Given the description of an element on the screen output the (x, y) to click on. 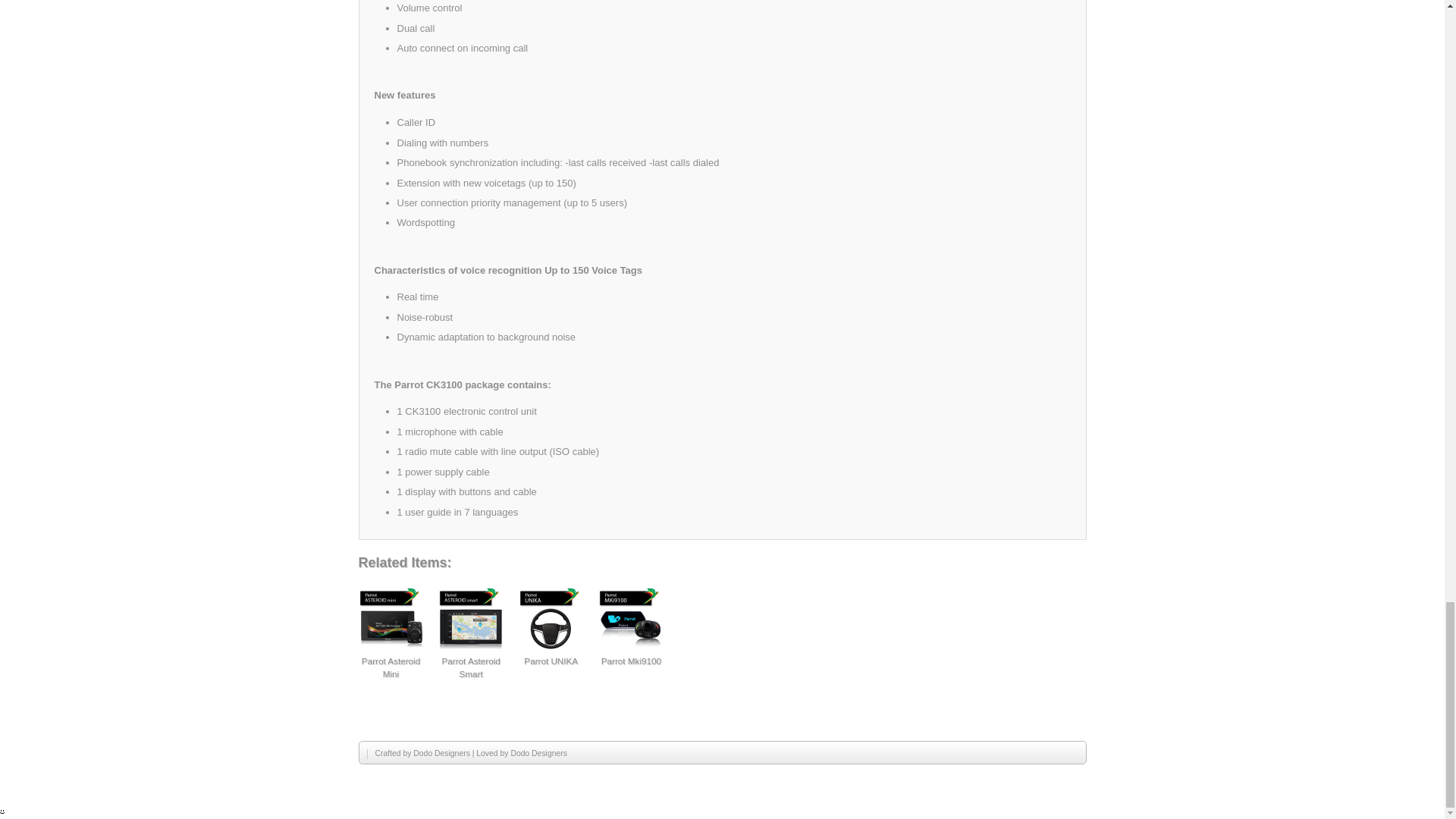
Parrot Asteroid Smart (470, 667)
Parrot UNIKA (551, 660)
Dodo Designers (539, 753)
Parrot UNIKA (550, 618)
Parrot Mki9100 (631, 660)
Parrot Asteroid Mini (390, 667)
Parrot Asteroid Mini (390, 667)
Parrot Asteroid Smart (470, 667)
Parrot Asteroid Mini (390, 618)
Parrot Asteroid Smart (470, 618)
Dodo Designers (441, 753)
